Given the description of an element on the screen output the (x, y) to click on. 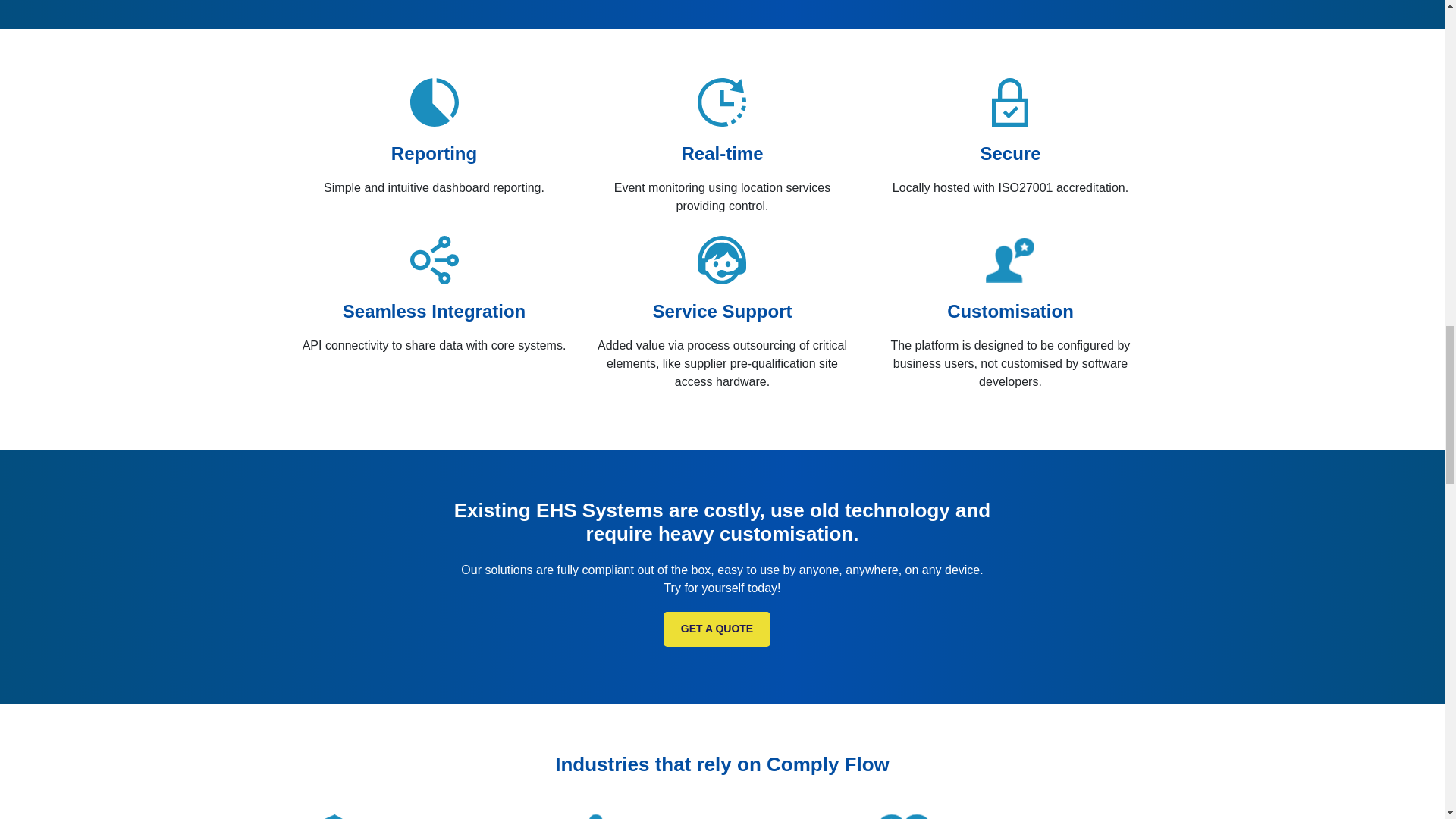
GET A QUOTE (716, 629)
